Given the description of an element on the screen output the (x, y) to click on. 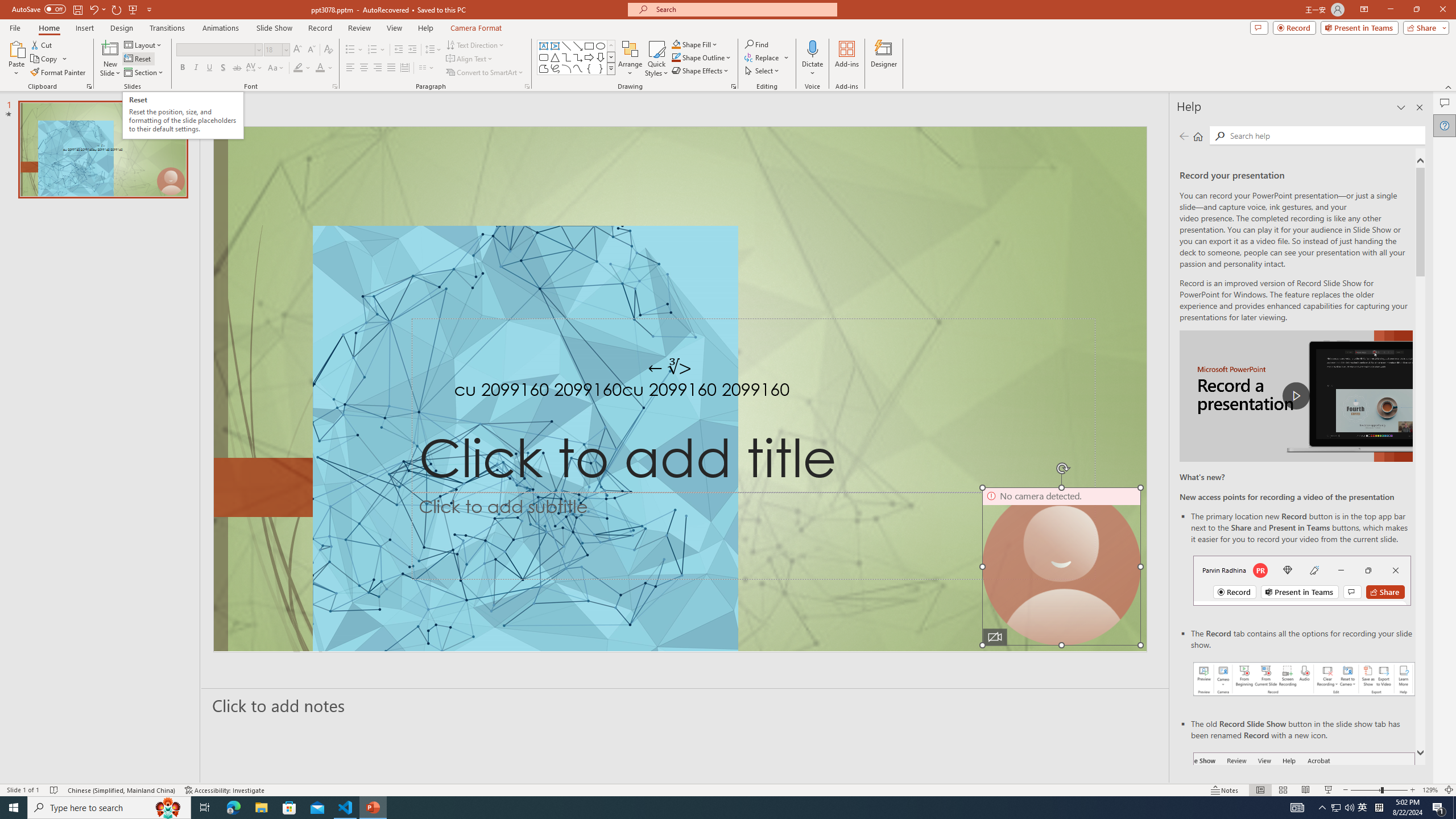
Slide (103, 149)
Shape Outline Green, Accent 1 (675, 56)
Font (215, 49)
Columns (426, 67)
Subtitle TextBox (753, 535)
TextBox 7 (670, 367)
Camera Format (475, 28)
Replace... (767, 56)
Zoom 129% (1430, 790)
Reset (138, 58)
Numbering (376, 49)
